Given the description of an element on the screen output the (x, y) to click on. 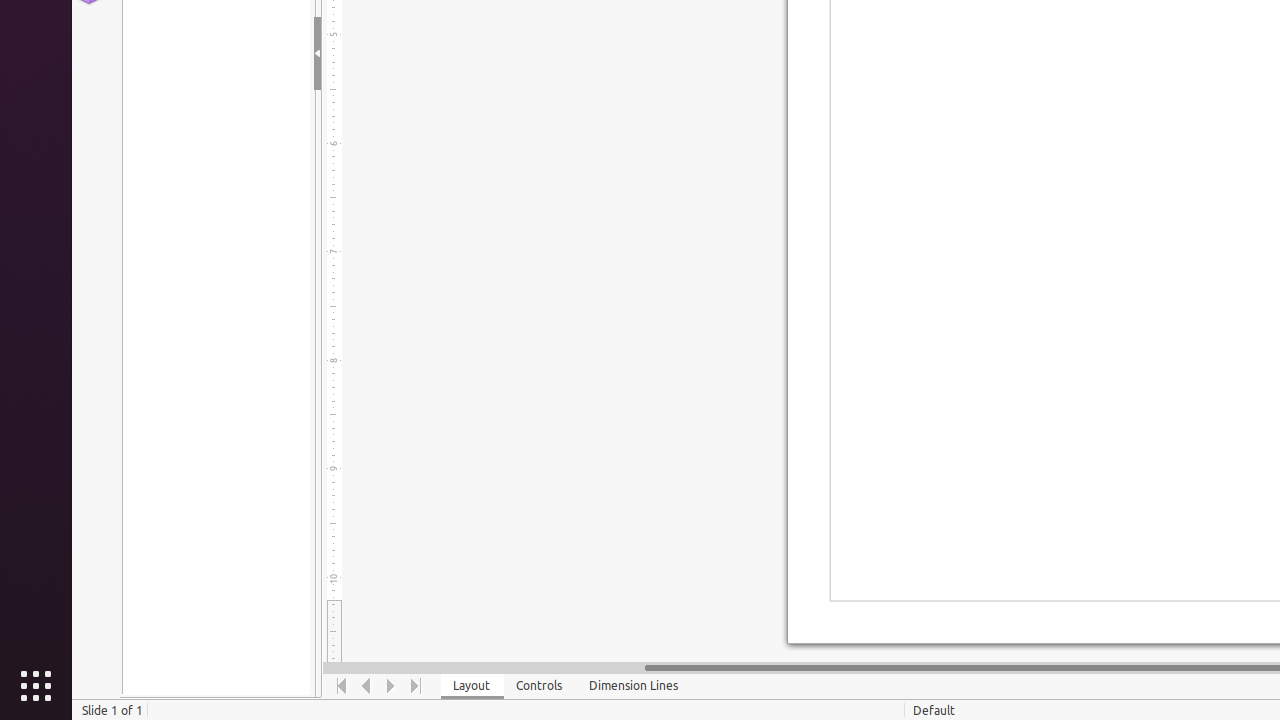
Show Applications Element type: toggle-button (36, 686)
Controls Element type: page-tab (540, 686)
Dimension Lines Element type: page-tab (634, 686)
